Given the description of an element on the screen output the (x, y) to click on. 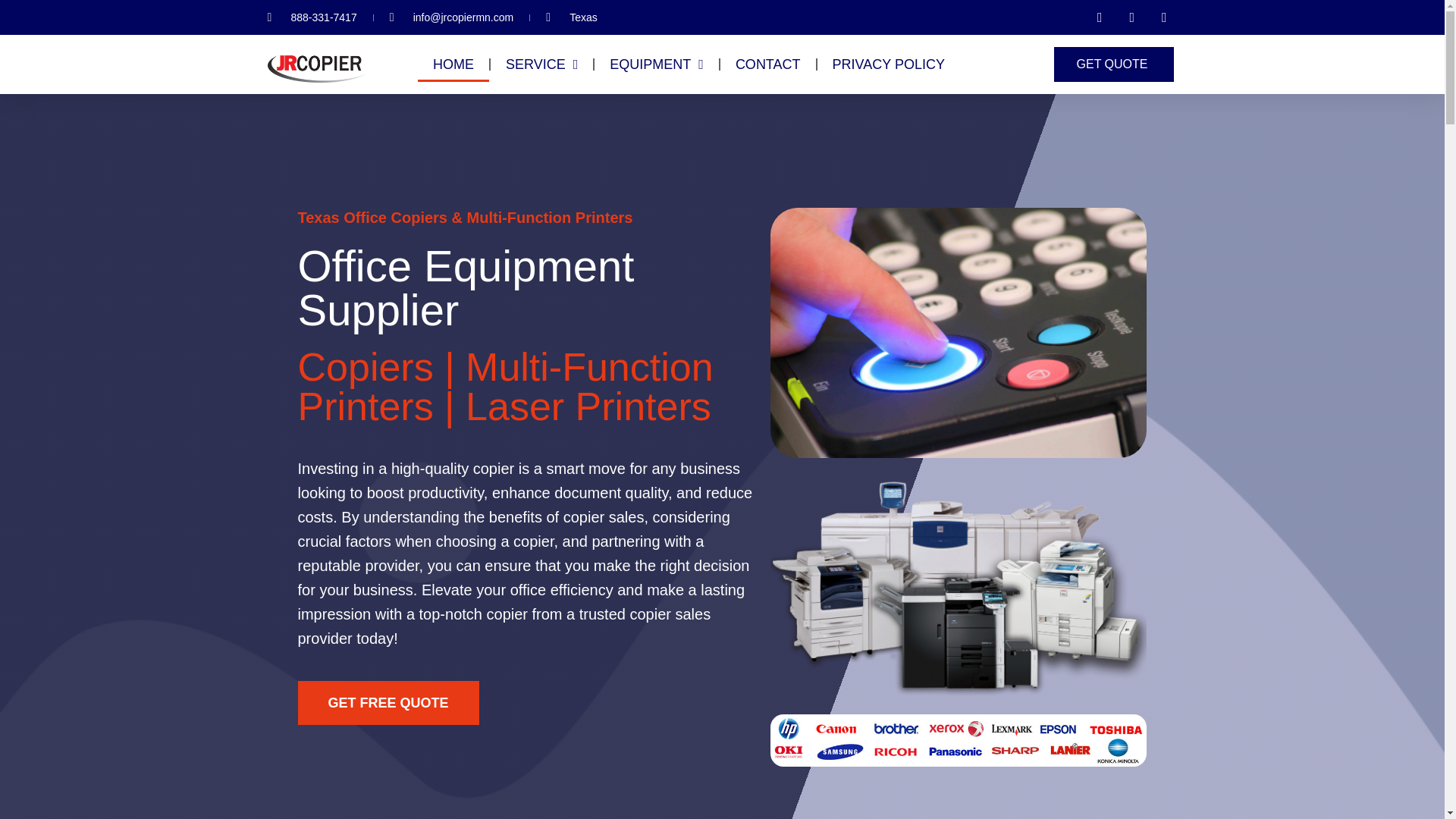
GET QUOTE (1114, 63)
SERVICE (541, 63)
GET FREE QUOTE (388, 702)
EQUIPMENT (656, 63)
CONTACT (767, 63)
HOME (453, 63)
PRIVACY POLICY (887, 63)
